Given the description of an element on the screen output the (x, y) to click on. 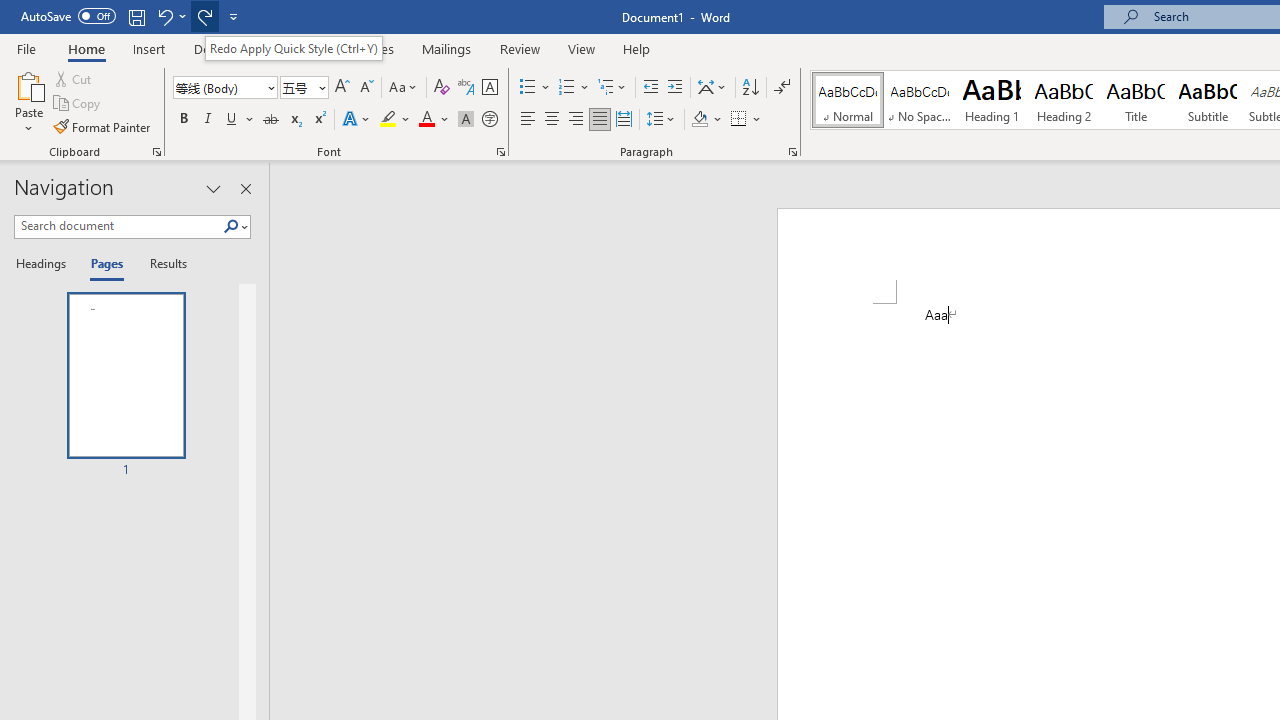
Redo Apply Quick Style (204, 15)
Heading 2 (1063, 100)
Font Color Red (426, 119)
